Given the description of an element on the screen output the (x, y) to click on. 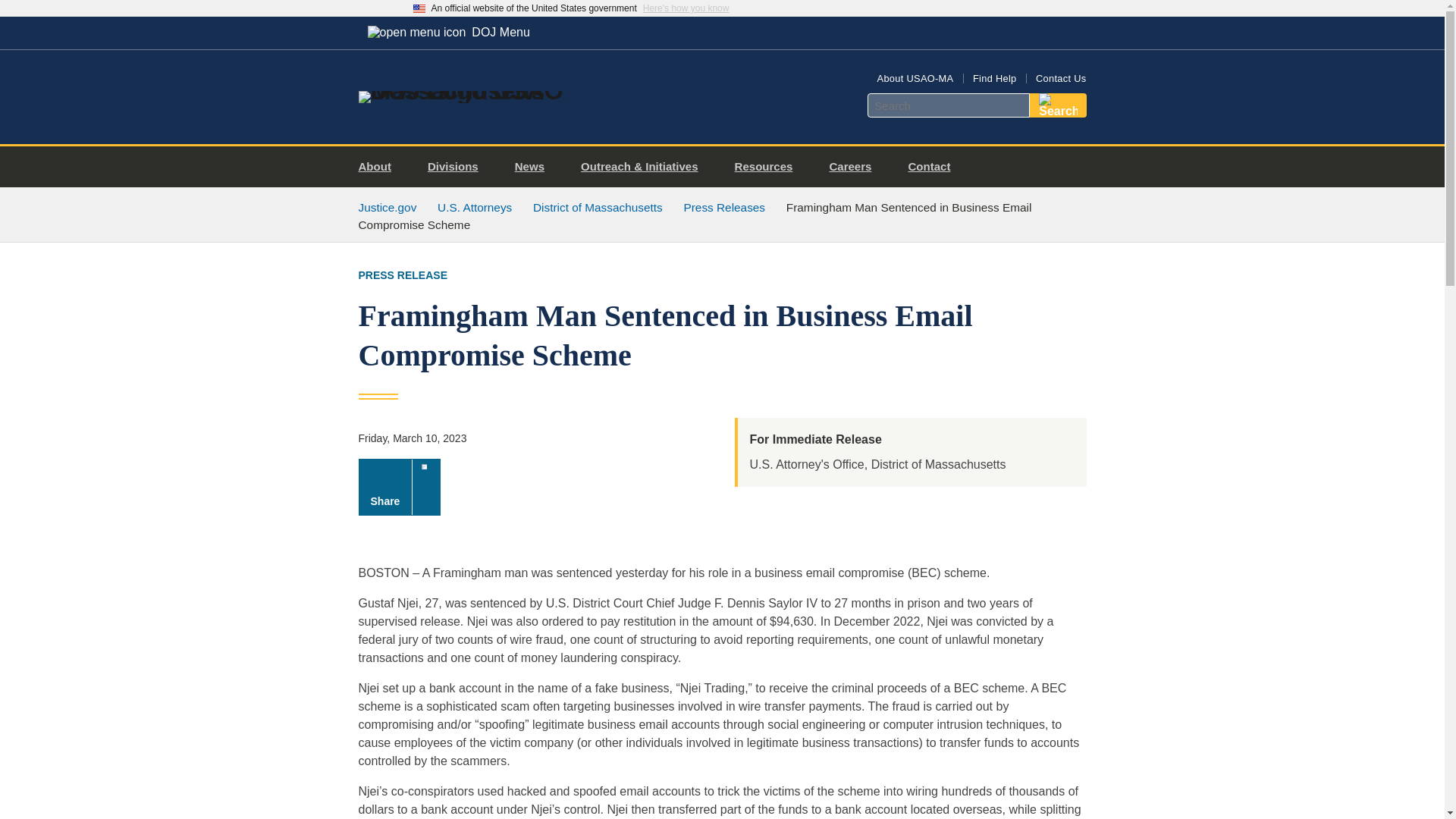
Press Releases (723, 206)
District of Massachusetts (597, 206)
About (380, 167)
About USAO-MA (915, 78)
Contact Us (1060, 78)
Home (481, 90)
U.S. Attorneys (475, 206)
DOJ Menu (448, 32)
News (535, 167)
Here's how you know (686, 8)
